Given the description of an element on the screen output the (x, y) to click on. 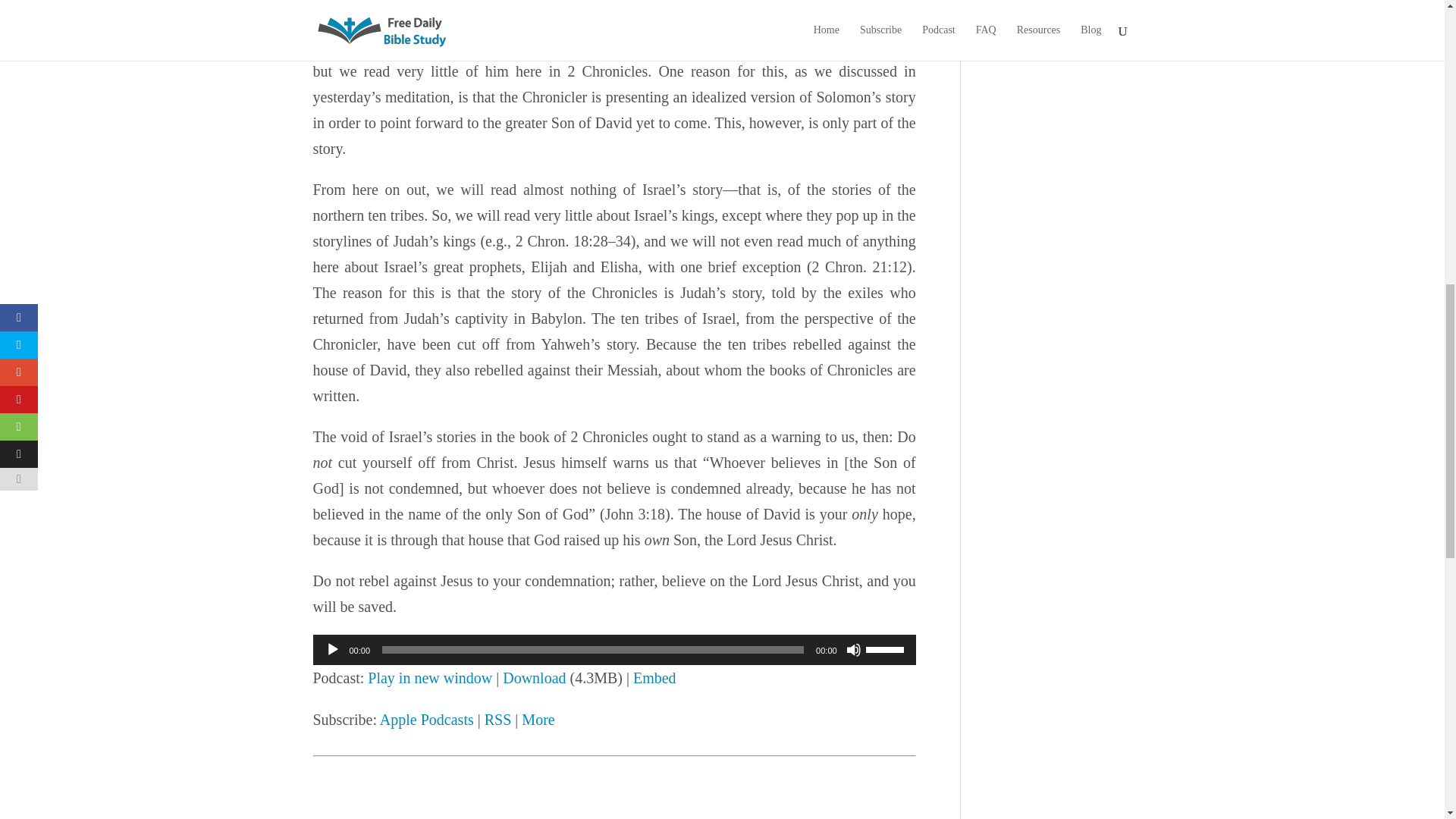
Download (534, 677)
Subscribe via RSS (498, 719)
More (537, 719)
RSS (498, 719)
Subscribe on Apple Podcasts (427, 719)
Play in new window (430, 677)
More (537, 719)
Embed (655, 677)
Apple Podcasts (427, 719)
Mute (853, 649)
Play in new window (430, 677)
Download (534, 677)
Embed (655, 677)
Play (331, 649)
